Given the description of an element on the screen output the (x, y) to click on. 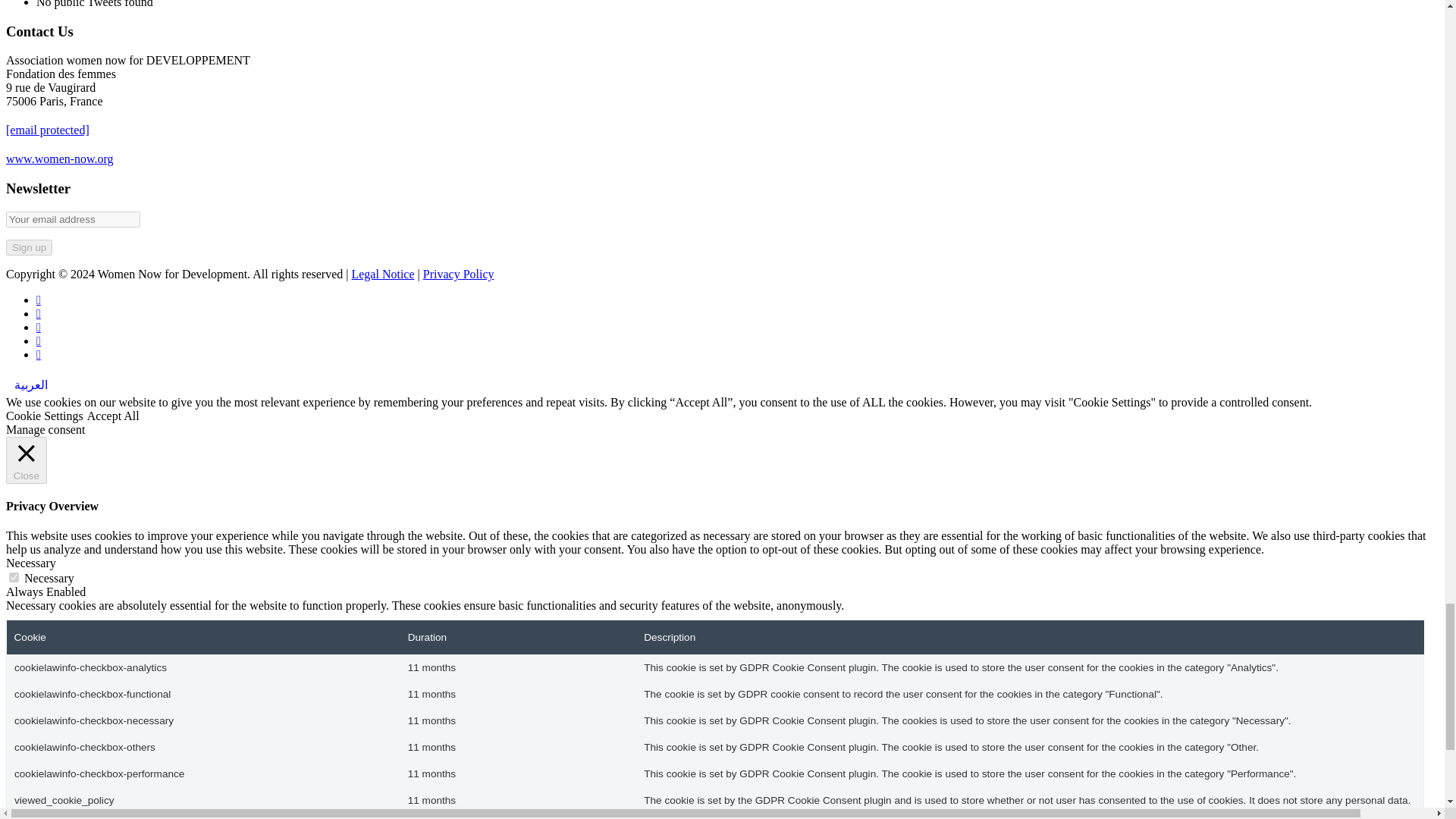
on (13, 577)
Sign up (28, 247)
Privacy Policy (459, 273)
